Given the description of an element on the screen output the (x, y) to click on. 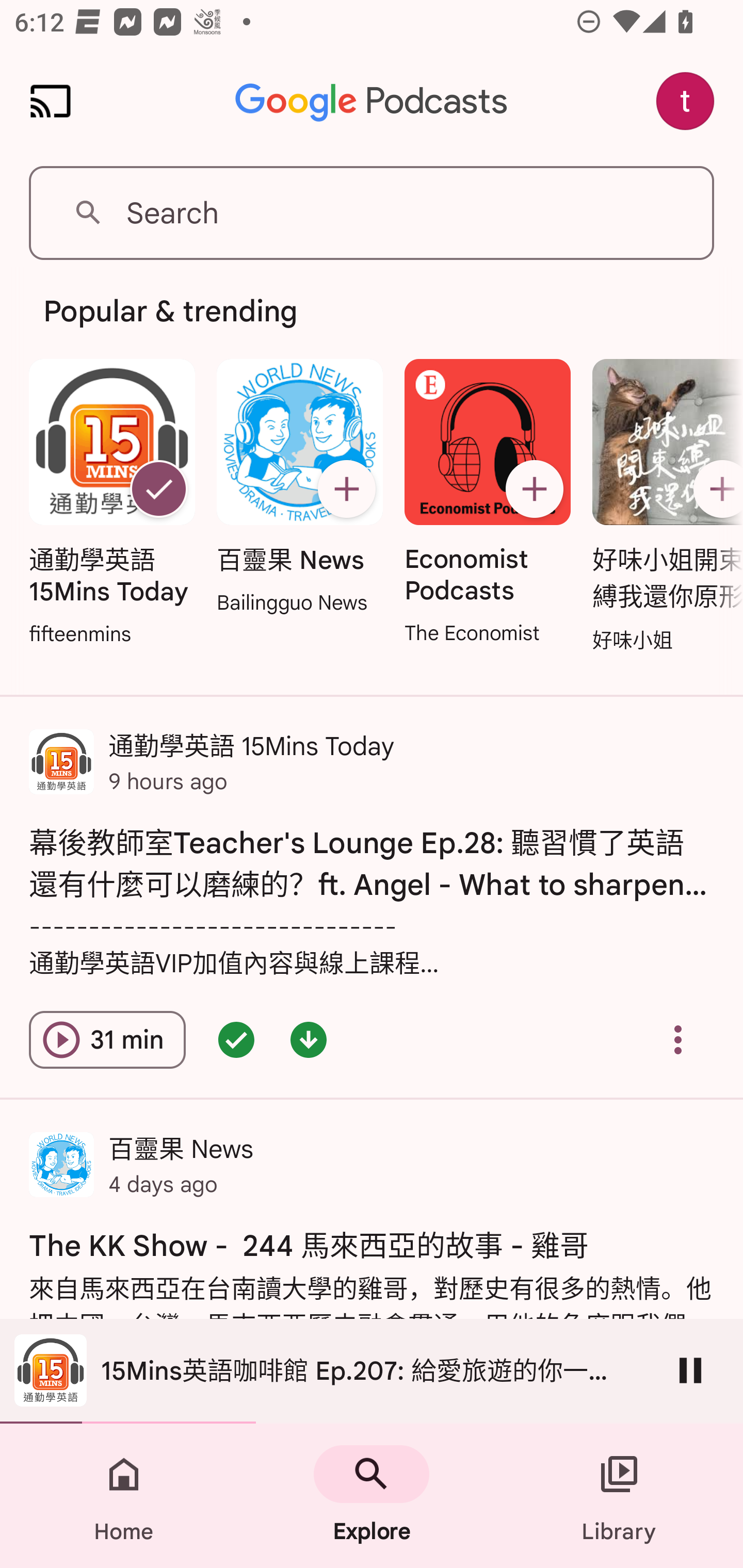
Cast. Disconnected (50, 101)
Search (371, 212)
百靈果 News Subscribe 百靈果 News Bailingguo News (299, 488)
好味小姐開束縛我還你原形 Subscribe 好味小姐開束縛我還你原形 好味小姐 (662, 507)
Unsubscribe (158, 489)
Subscribe (346, 489)
Subscribe (534, 489)
Subscribe (714, 489)
Episode queued - double tap for options (235, 1040)
Episode downloaded - double tap for options (308, 1040)
Overflow menu (677, 1040)
Pause (690, 1370)
Home (123, 1495)
Library (619, 1495)
